Given the description of an element on the screen output the (x, y) to click on. 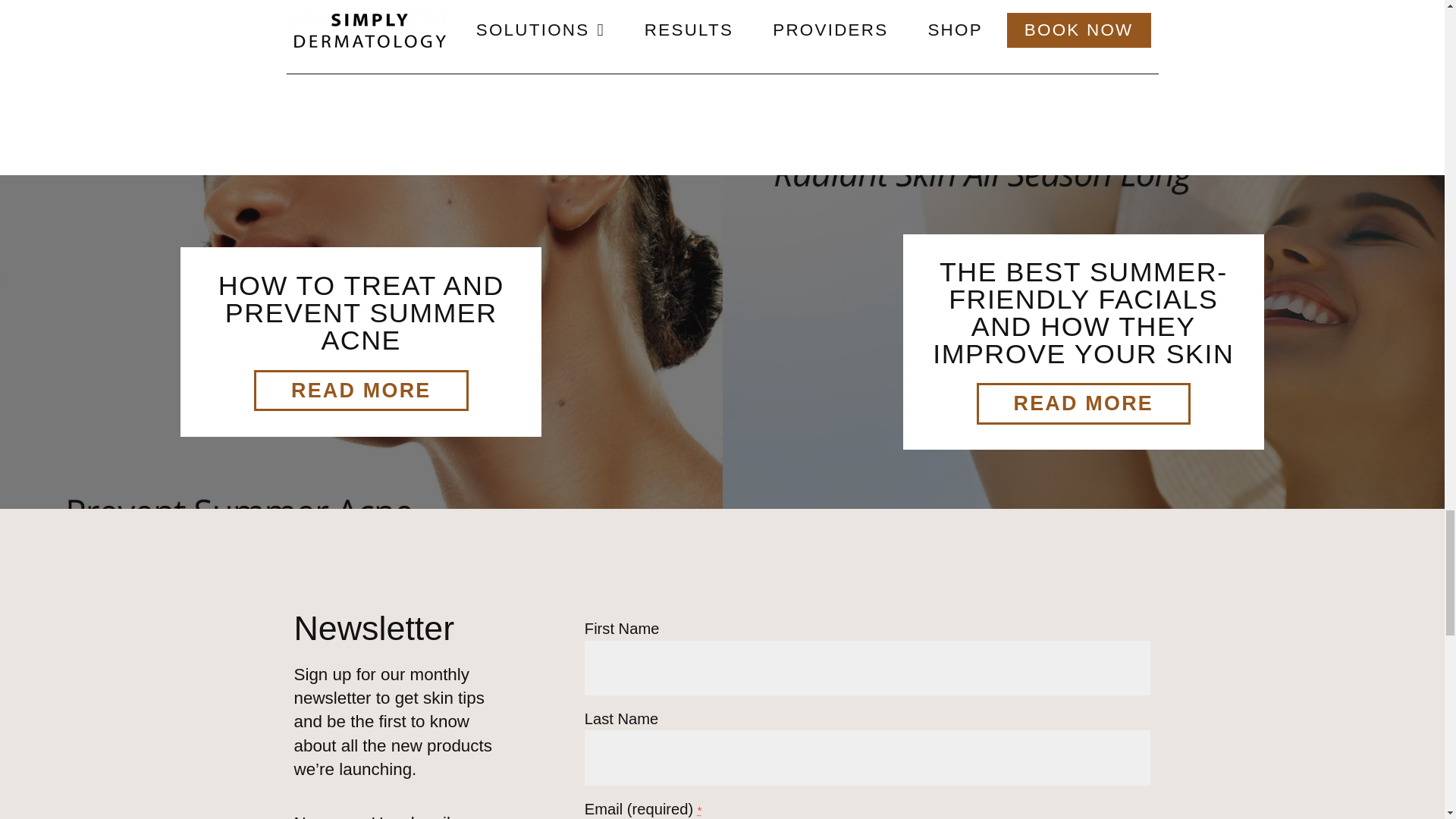
Book Now (386, 26)
